Given the description of an element on the screen output the (x, y) to click on. 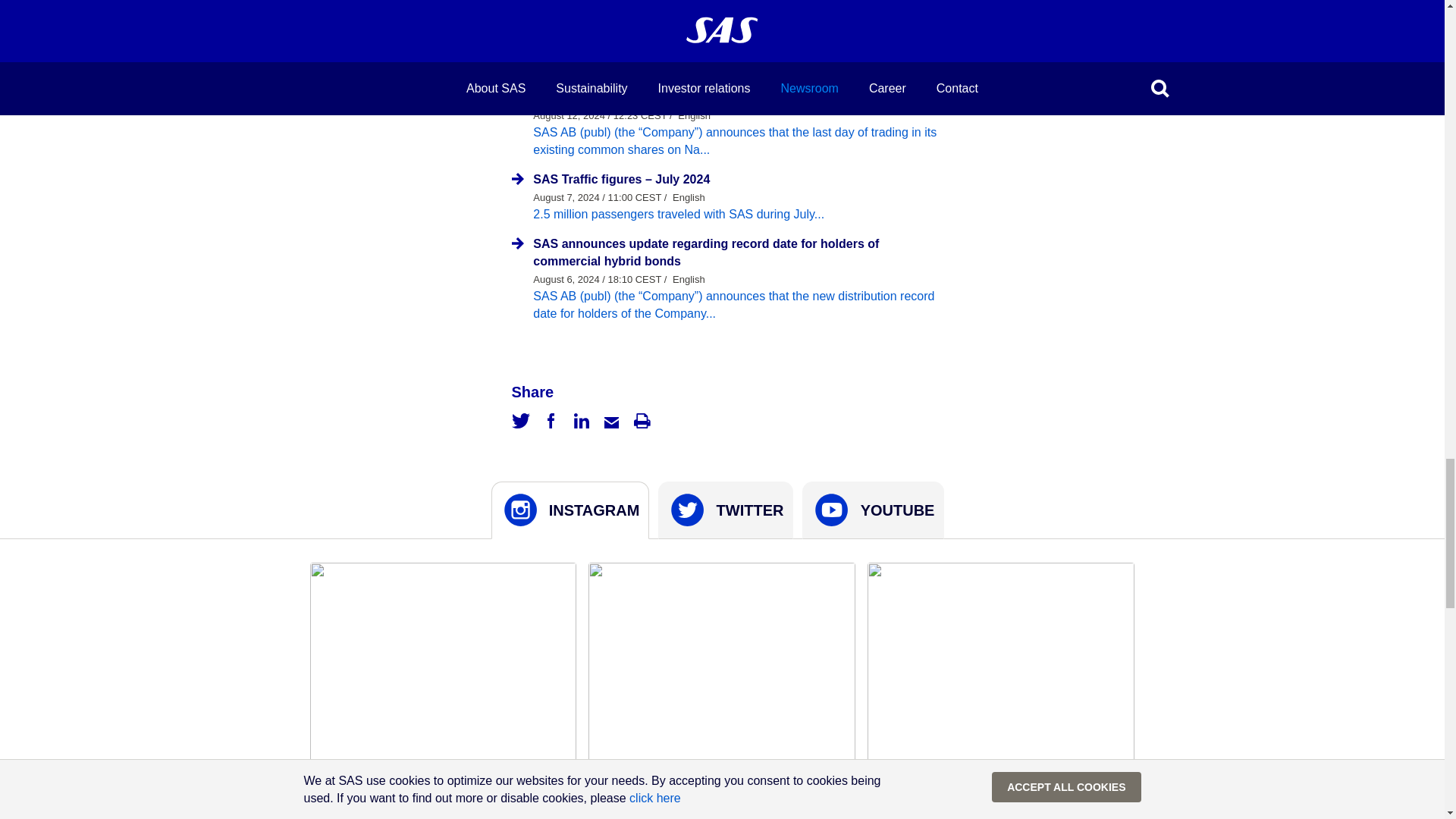
E-mail (611, 420)
Twitter (520, 420)
Facebook (550, 420)
Print (640, 420)
LinkedIn (580, 420)
